Given the description of an element on the screen output the (x, y) to click on. 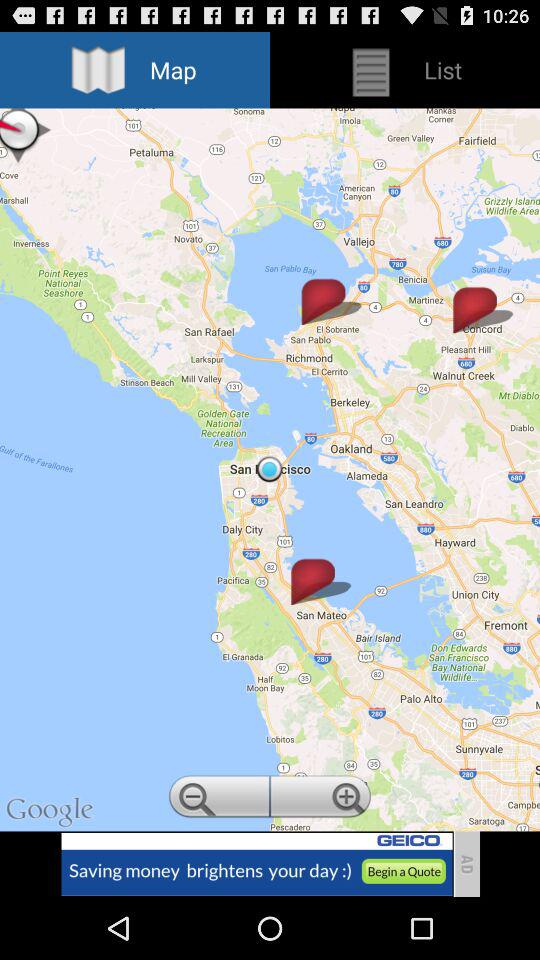
zoom in (322, 799)
